Given the description of an element on the screen output the (x, y) to click on. 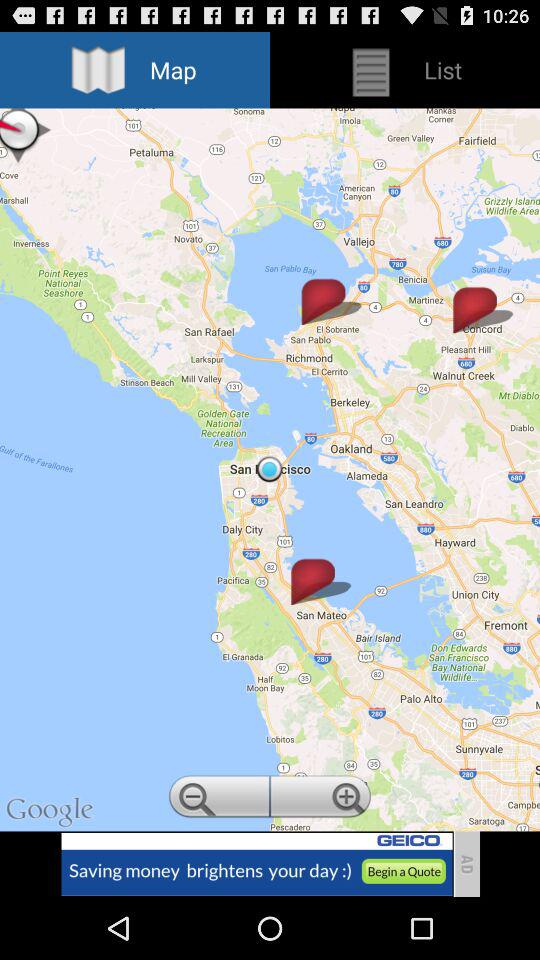
zoom in (322, 799)
